Given the description of an element on the screen output the (x, y) to click on. 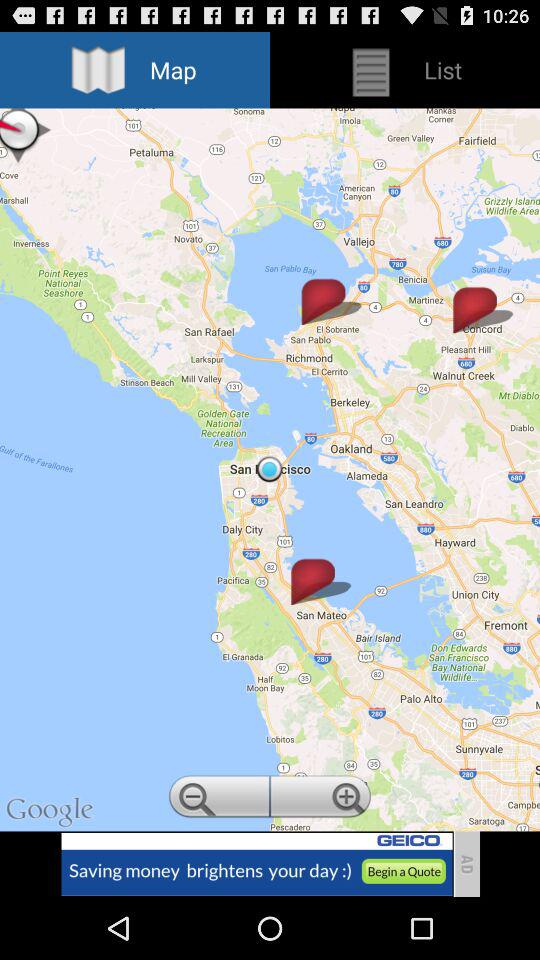
zoom in (322, 799)
